Given the description of an element on the screen output the (x, y) to click on. 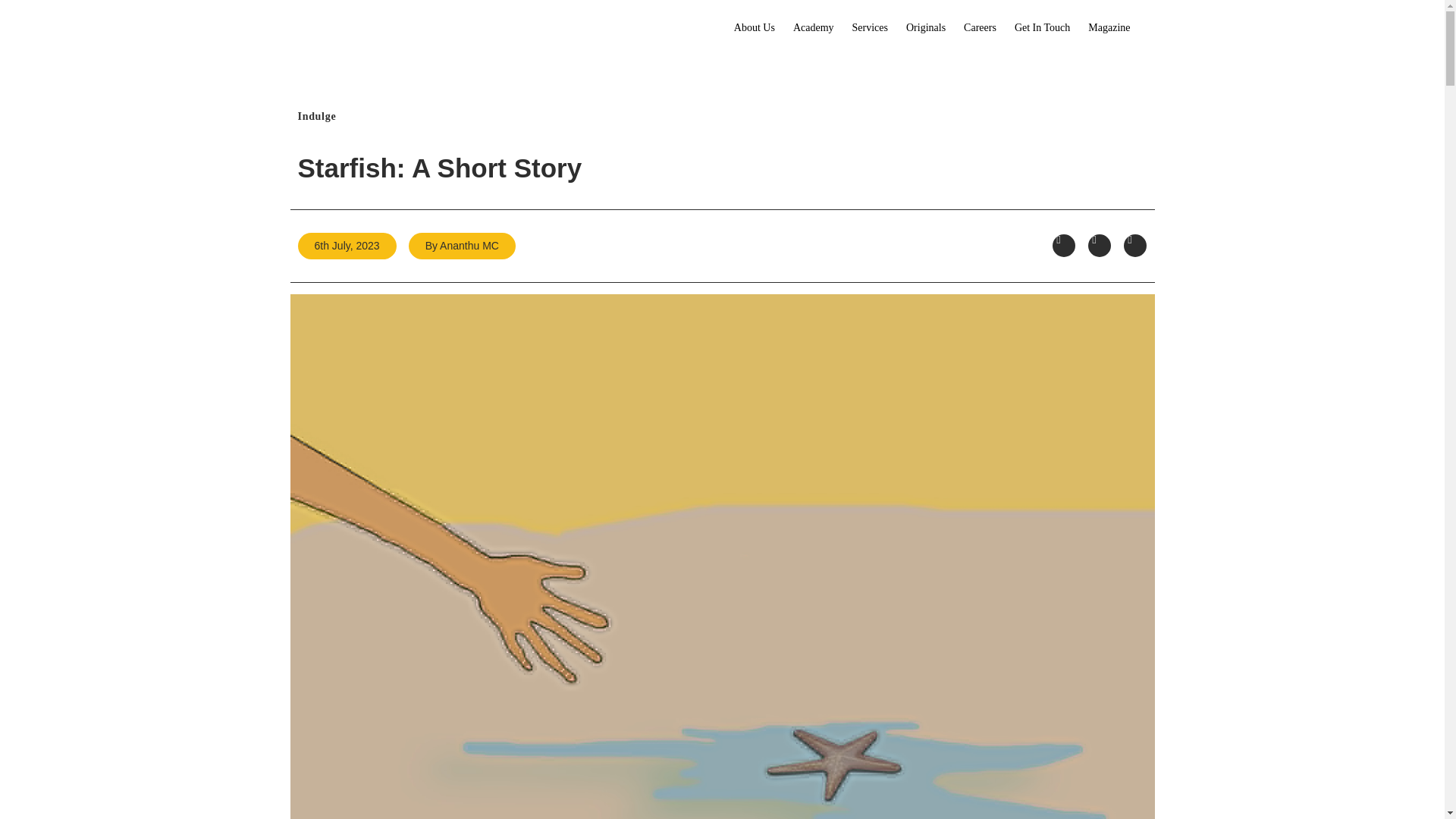
Originals (925, 27)
About Us (754, 27)
Magazine (1108, 27)
Careers (980, 27)
Services (869, 27)
Get In Touch (1042, 27)
Academy (813, 27)
